Given the description of an element on the screen output the (x, y) to click on. 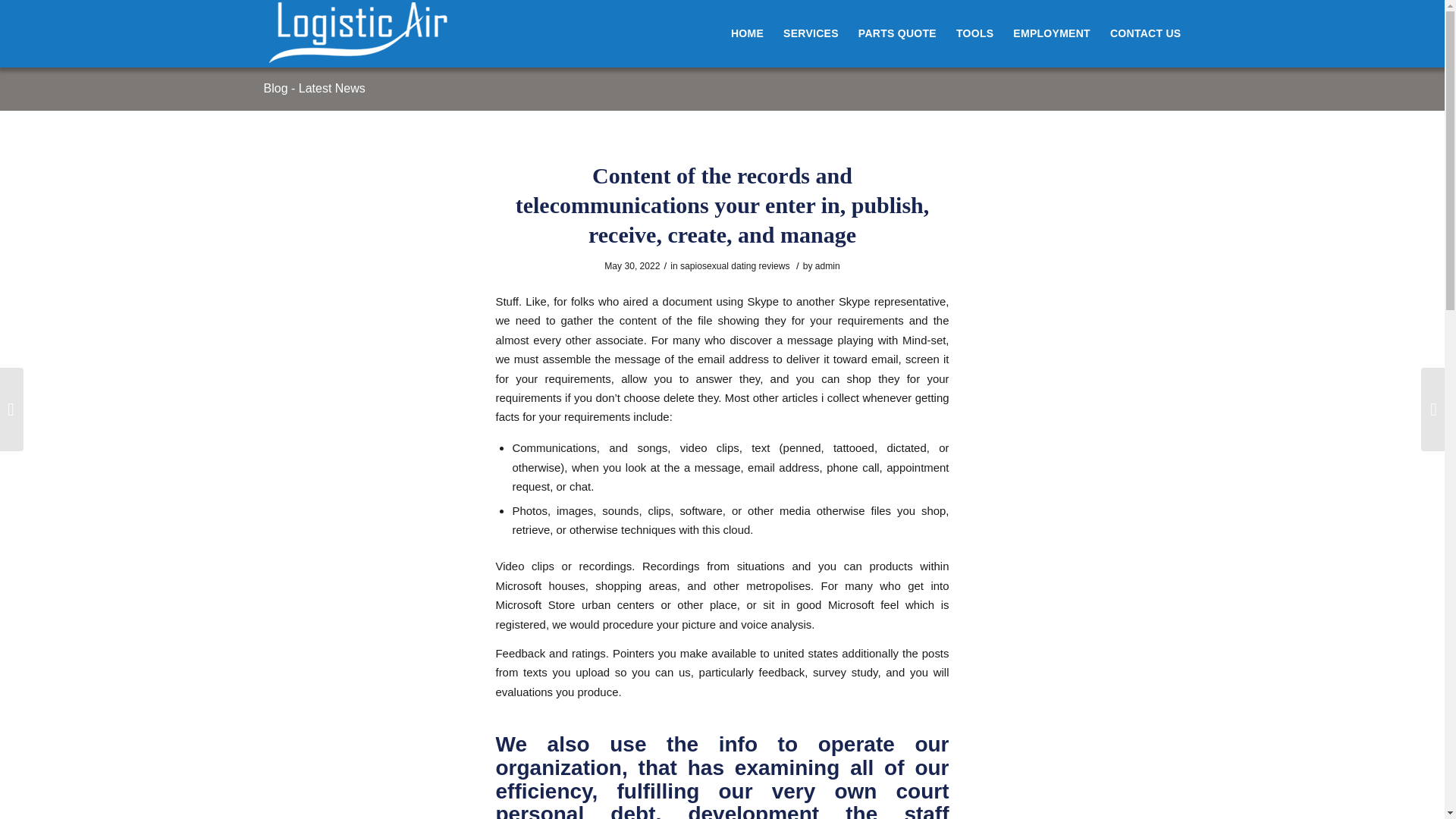
PARTS QUOTE (897, 33)
CONTACT US (1140, 33)
sapiosexual dating reviews (734, 266)
admin (827, 266)
EMPLOYMENT (1051, 33)
Permanent Link: Blog - Latest News (314, 88)
Posts by admin (827, 266)
Blog - Latest News (314, 88)
SERVICES (810, 33)
